Given the description of an element on the screen output the (x, y) to click on. 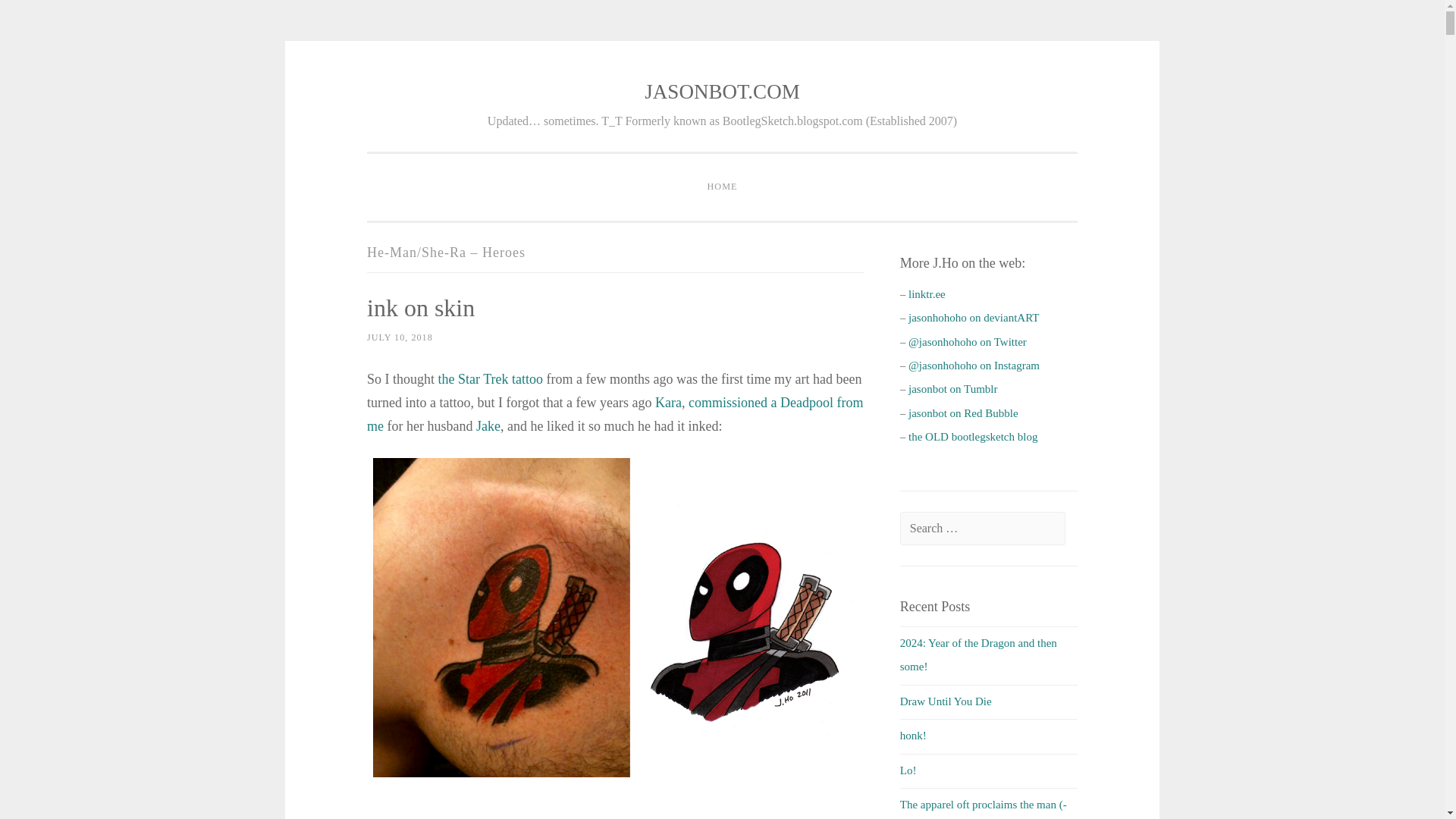
Skip to content (400, 91)
Jake (488, 426)
Kara (668, 402)
JULY 10, 2018 (399, 337)
commissioned a Deadpool from me (614, 414)
HOME (722, 186)
the Star Trek tattoo (490, 378)
JASONBOT.COM (722, 91)
ink on skin (420, 307)
